Given the description of an element on the screen output the (x, y) to click on. 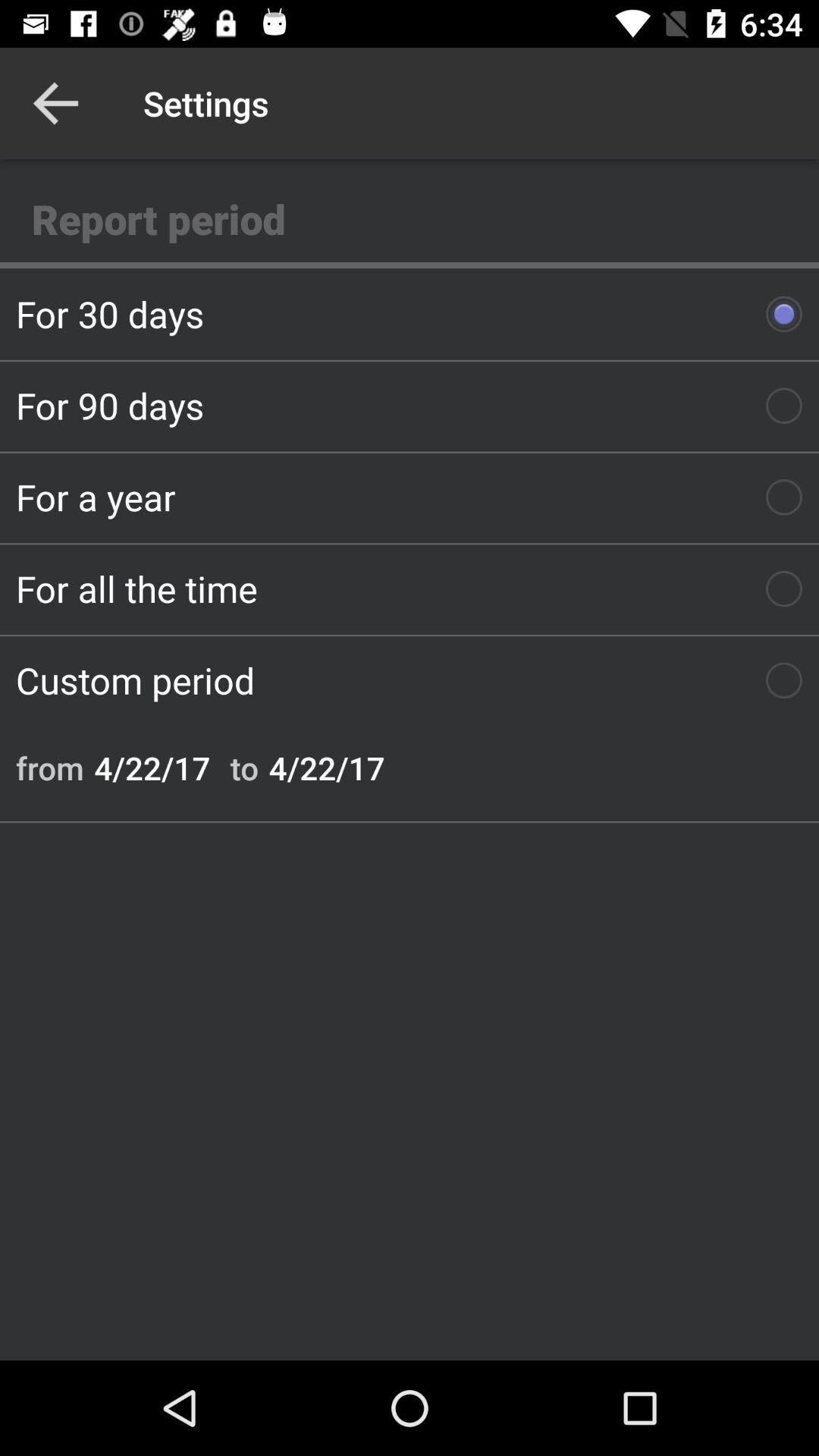
choose the item below the for 90 days item (409, 497)
